Given the description of an element on the screen output the (x, y) to click on. 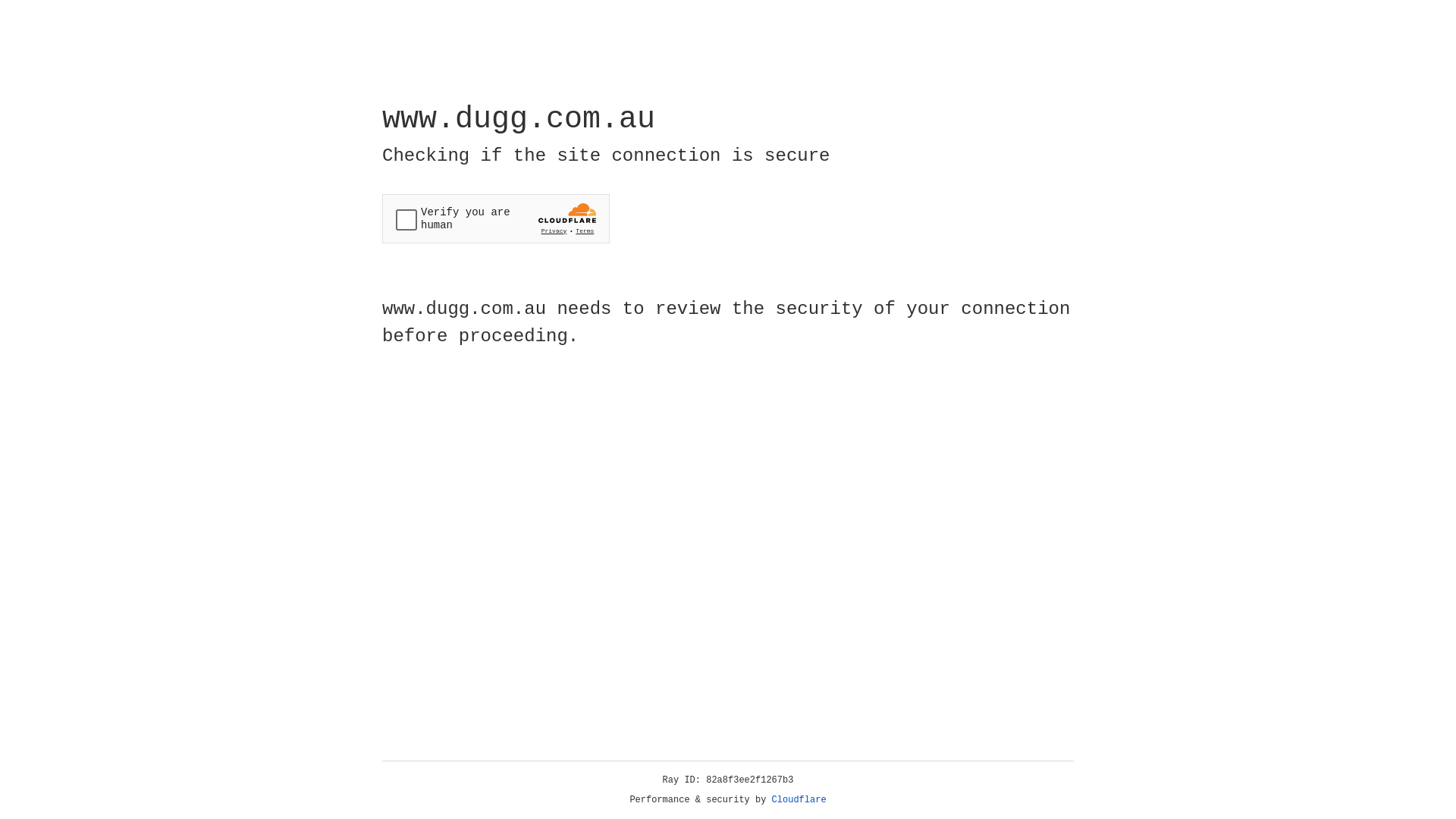
Cloudflare Element type: text (798, 799)
Widget containing a Cloudflare security challenge Element type: hover (495, 218)
